Given the description of an element on the screen output the (x, y) to click on. 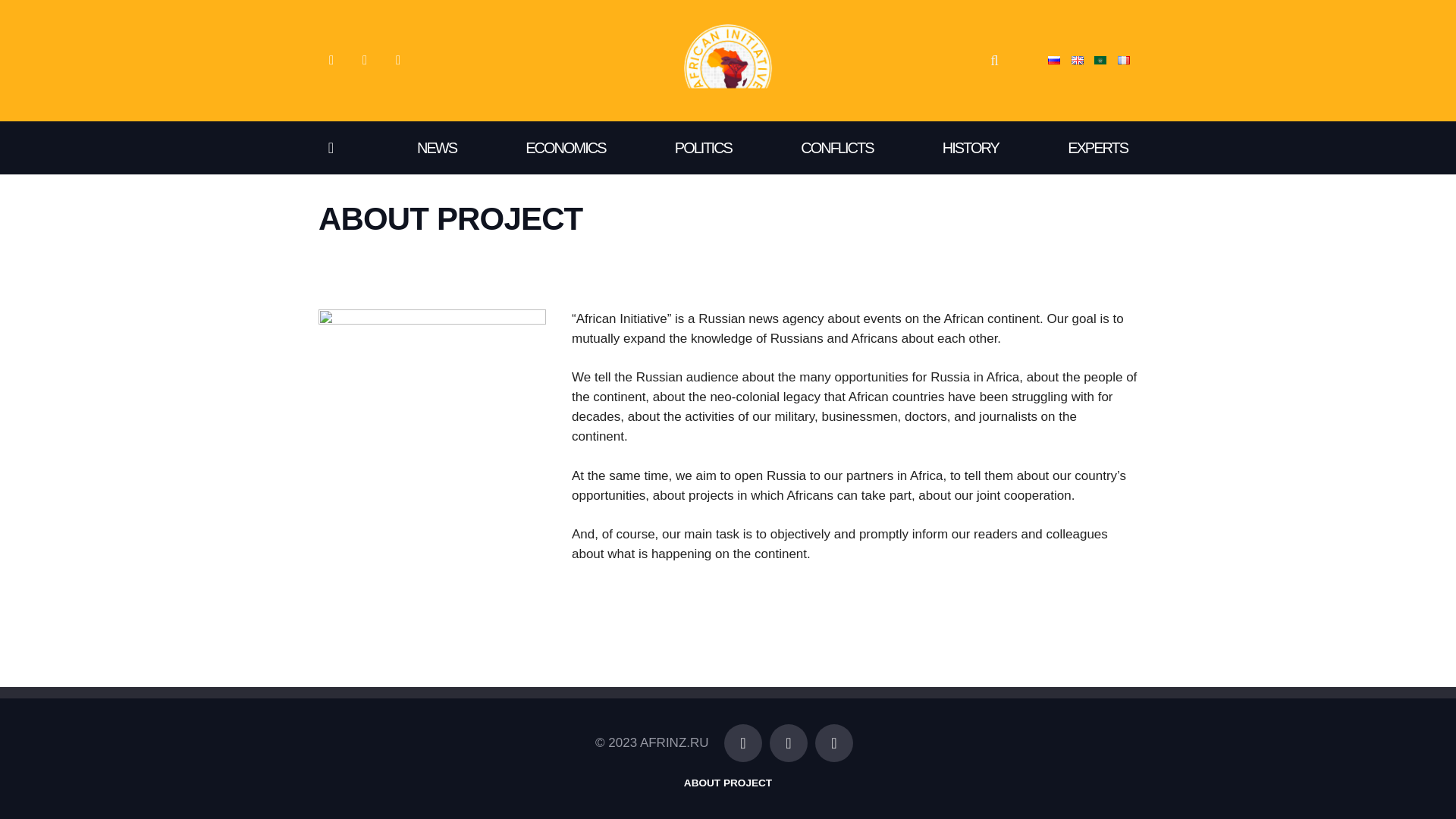
YouTube (834, 742)
ABOUT PROJECT (727, 782)
CONFLICTS (837, 147)
Telegram (397, 60)
Vkontakte (330, 60)
POLITICS (702, 147)
ECONOMICS (565, 147)
Telegram (742, 742)
NEWS (436, 147)
EXPERTS (1097, 147)
